Given the description of an element on the screen output the (x, y) to click on. 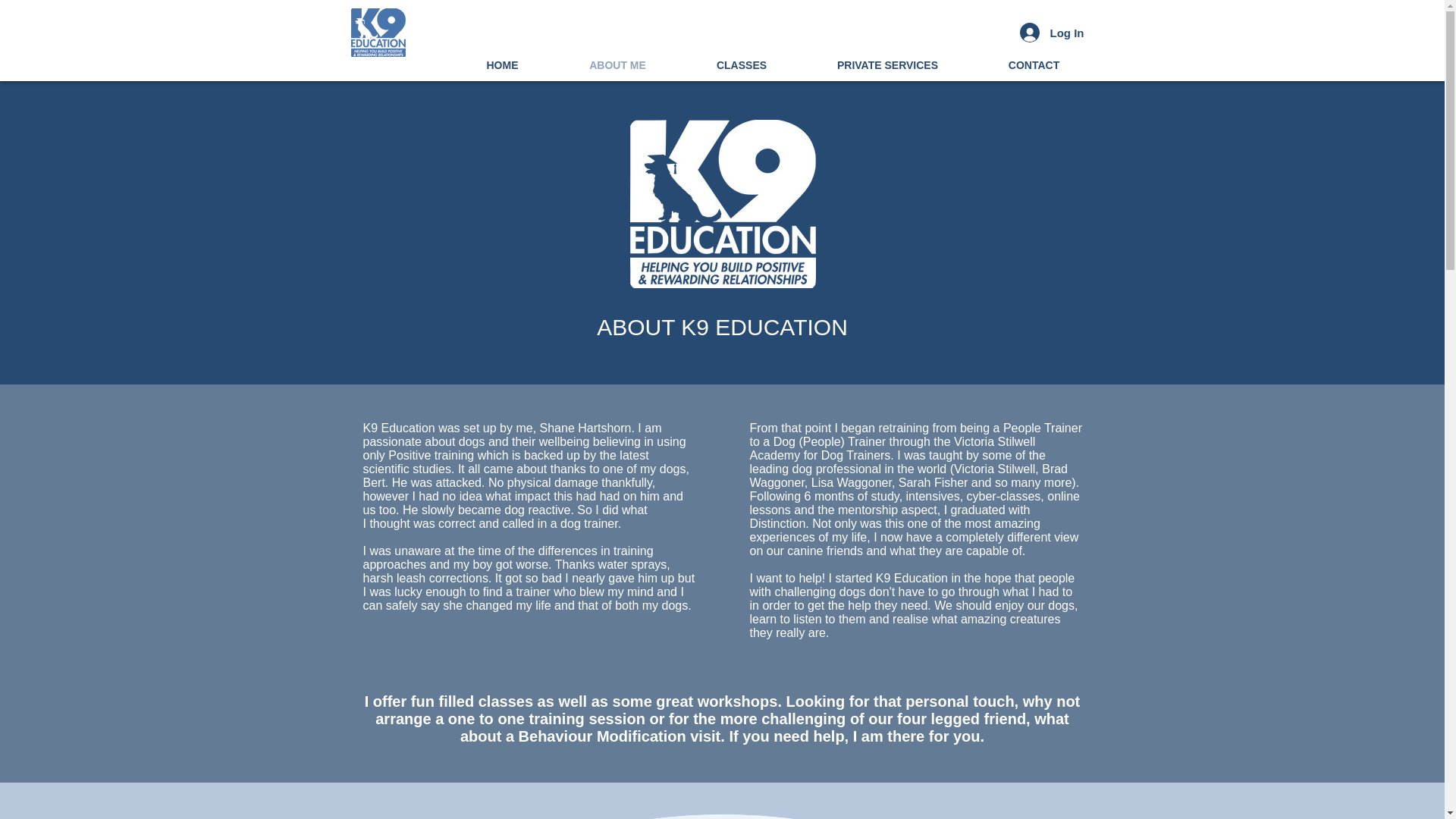
Victoria Stilwell, (996, 468)
, Lisa Waggoner (848, 481)
HOME (501, 65)
ABOUT ME (617, 65)
classes (505, 701)
CONTACT (1034, 65)
Sarah Fisher (933, 481)
one to one training session (546, 718)
PRIVATE SERVICES (888, 65)
Victoria Stilwell Academy for Dog Trainers (892, 447)
Behaviour Modification visit (619, 736)
Log In (1051, 32)
Brad Waggoner (908, 475)
workshops (737, 701)
CLASSES (741, 65)
